Given the description of an element on the screen output the (x, y) to click on. 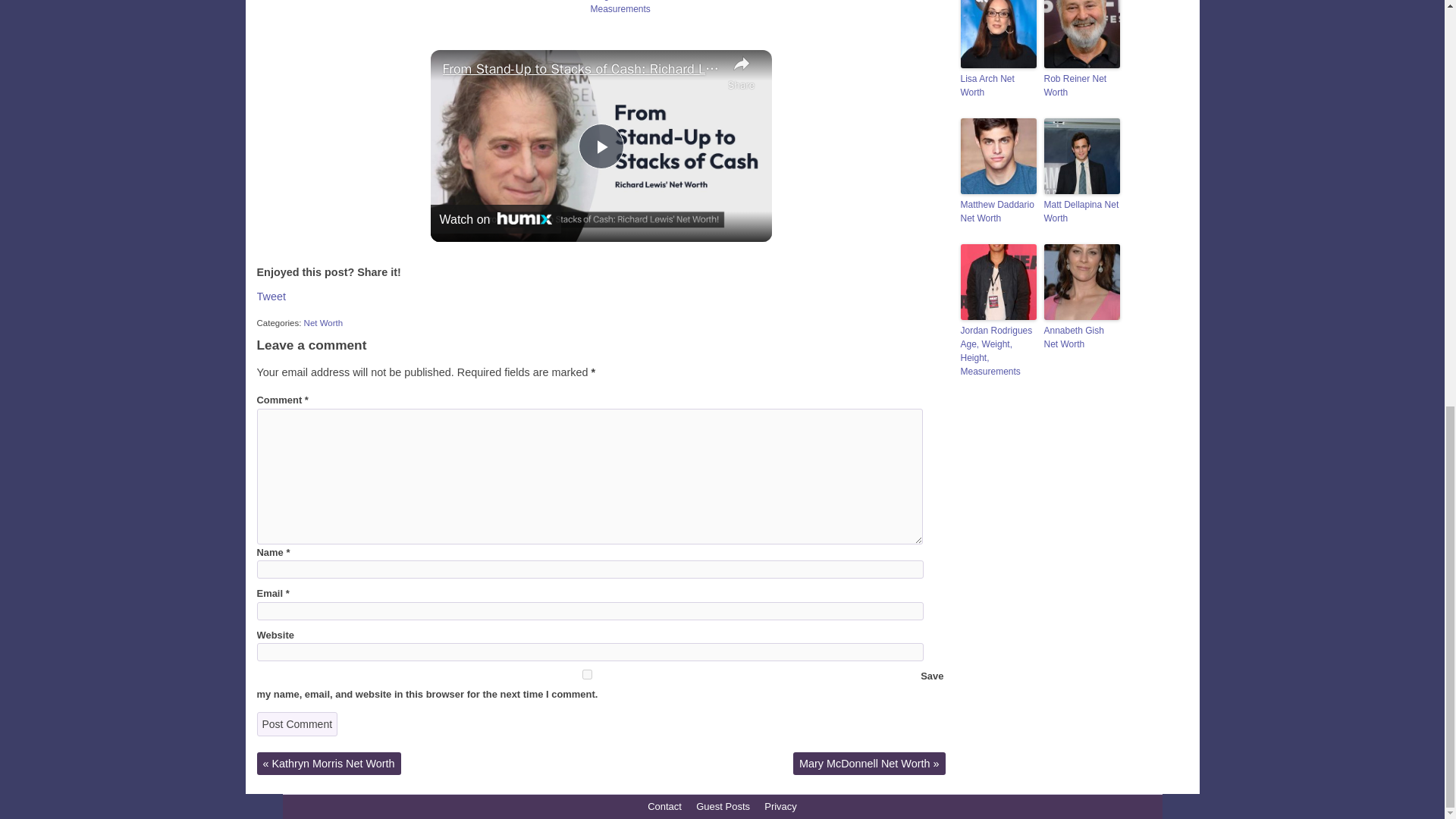
Play Video (600, 145)
yes (586, 674)
Post Comment (296, 723)
